Given the description of an element on the screen output the (x, y) to click on. 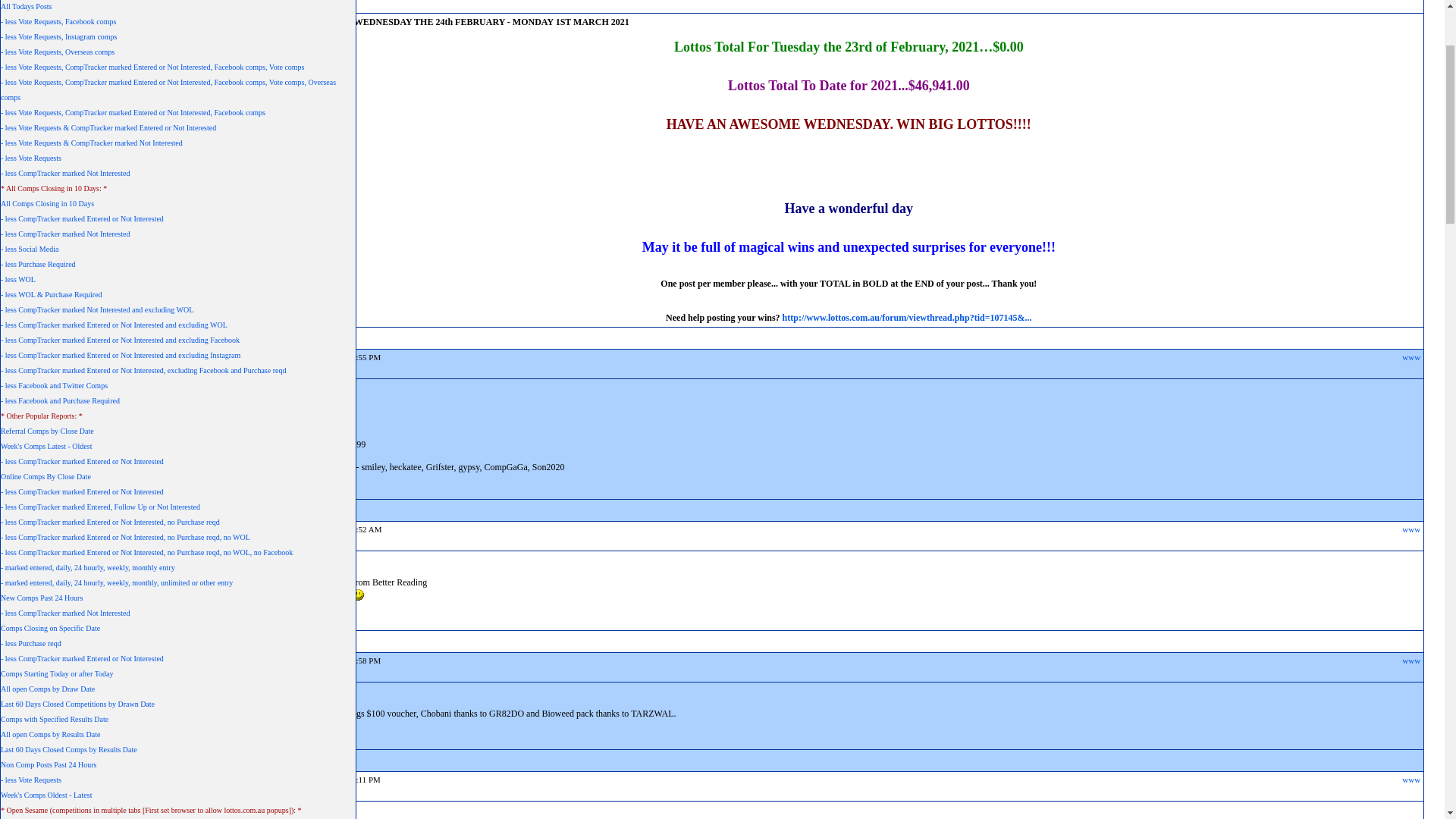
Referral Comps by Close Date Element type: text (47, 590)
Online Comps By Close Date Element type: text (45, 635)
New Comps Past 24 Hours Element type: text (41, 757)
Competitions Element type: text (50, 103)
competitions Element type: hover (123, 36)
Competitions Related Element type: text (127, 103)
- less CompTracker marked Entered or Not Interested Element type: text (81, 620)
- less Vote Requests Element type: text (30, 120)
- less Social Media Element type: text (29, 408)
All Todays Posts Element type: text (25, 165)
FAQ Element type: text (96, 84)
- less WOL Element type: text (17, 438)
- less Facebook and Purchase Required Element type: text (59, 559)
- marked entered, daily, 24 hourly, weekly, monthly entry Element type: text (87, 726)
- less CompTracker marked Not Interested Element type: text (64, 772)
- less Vote Requests & CompTracker marked Not Interested Element type: text (91, 302)
www Element type: text (1411, 515)
Login Element type: text (1370, 56)
- less CompTracker marked Not Interested and excluding WOL Element type: text (96, 468)
www Element type: text (1411, 688)
Lost Password Element type: text (134, 84)
- less Vote Requests, Overseas comps Element type: text (57, 211)
- less CompTracker marked Entered or Not Interested Element type: text (81, 650)
- less WOL & Purchase Required Element type: text (51, 453)
- less Purchase Required Element type: text (37, 423)
- Just Competitions Posts Element type: text (38, 135)
www Element type: text (1411, 150)
All Comps Closing in 10 Days Element type: text (47, 362)
Week's Comps Latest - Oldest Element type: text (45, 605)
All Premium, CompTracker Info Element type: text (169, 75)
Comps Closing on Specific Date Element type: text (50, 787)
Posts Since Last Visit Element type: text (33, 104)
Register Element type: text (1402, 56)
Competition Winners Element type: text (220, 103)
- less Vote Requests, Instagram comps Element type: text (58, 195)
- less Vote Requests, Facebook comps Element type: text (58, 180)
- less Facebook and Twitter Comps Element type: text (53, 544)
- less CompTracker marked Not Interested Element type: text (64, 393)
- less Vote Requests Element type: text (30, 317)
http://www.lottos.com.au/forum/viewthread.php?tid=107145&... Element type: text (907, 476)
- less CompTracker marked Entered or Not Interested Element type: text (81, 377)
- less Purchase reqd Element type: text (30, 802)
- less CompTracker marked Not Interested Element type: text (64, 332)
Join or Renew Premium & CompTracker Element type: text (308, 75)
Go To Bottom Element type: hover (1407, 103)
